Given the description of an element on the screen output the (x, y) to click on. 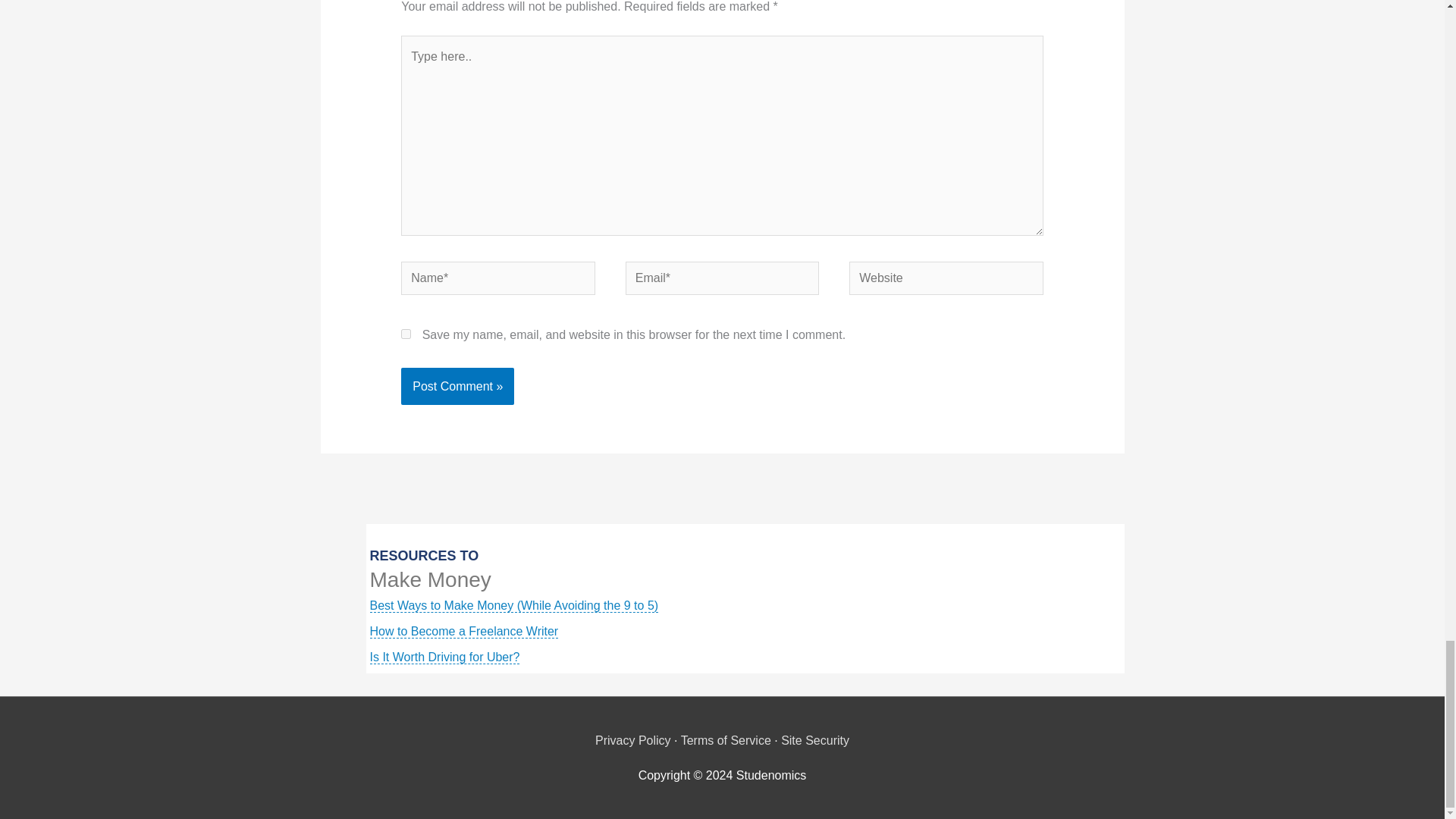
Is It Worth Driving for Uber? (444, 657)
Privacy Policy (633, 739)
How to Become a Freelance Writer (464, 631)
yes (405, 334)
